Given the description of an element on the screen output the (x, y) to click on. 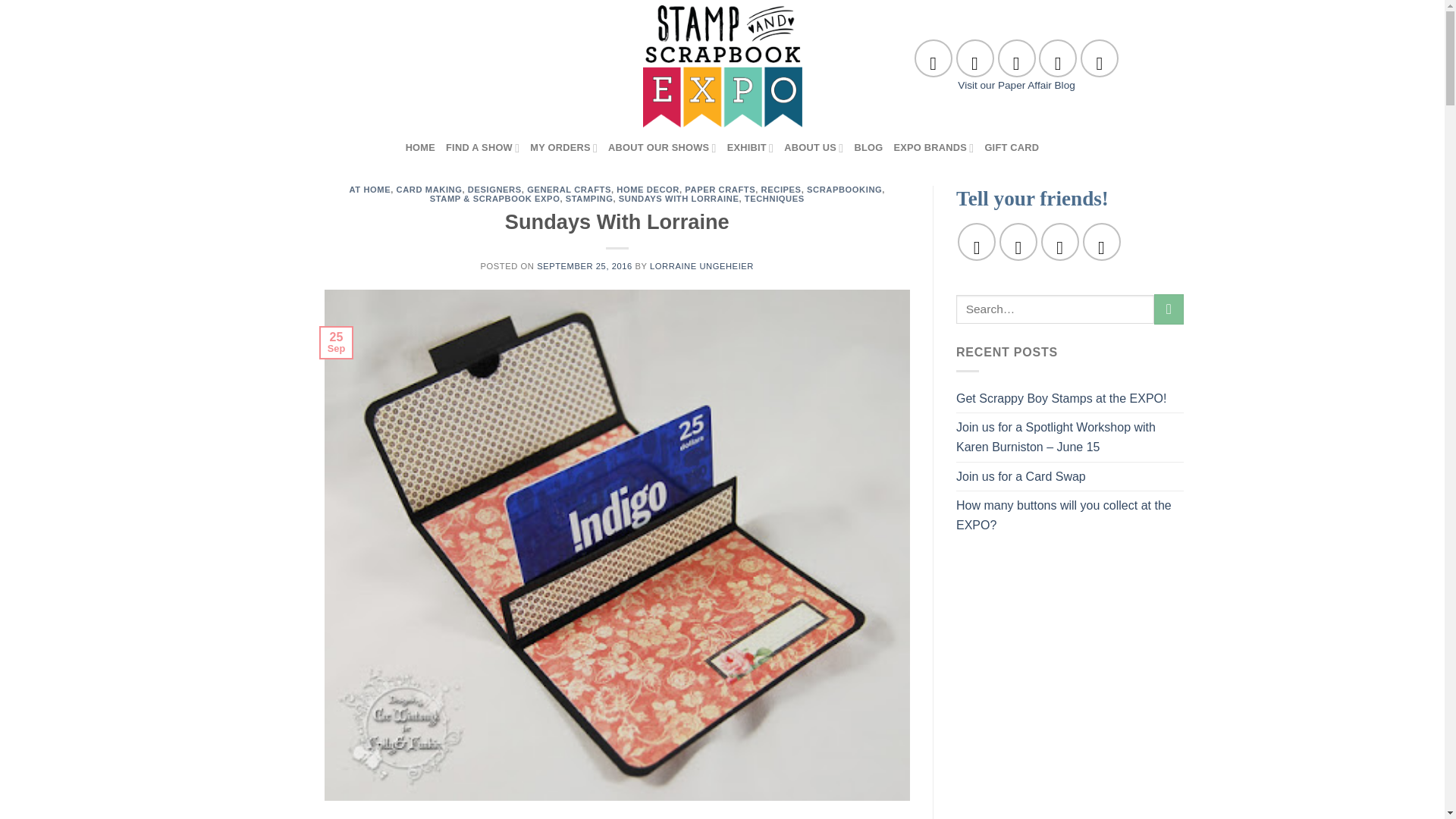
Email to a Friend (1059, 241)
HOME (420, 147)
Pin on Pinterest (1102, 241)
Advertisement (1069, 794)
Follow on Instagram (975, 57)
MY ORDERS (562, 147)
Share on Twitter (1017, 241)
Follow on Facebook (933, 57)
Follow on Pinterest (1016, 57)
Share on Facebook (976, 241)
ABOUT OUR SHOWS (662, 147)
FIND A SHOW (482, 147)
Subscribe to RSS (1058, 57)
Visit our Paper Affair Blog (1016, 84)
Follow on YouTube (1099, 57)
